Given the description of an element on the screen output the (x, y) to click on. 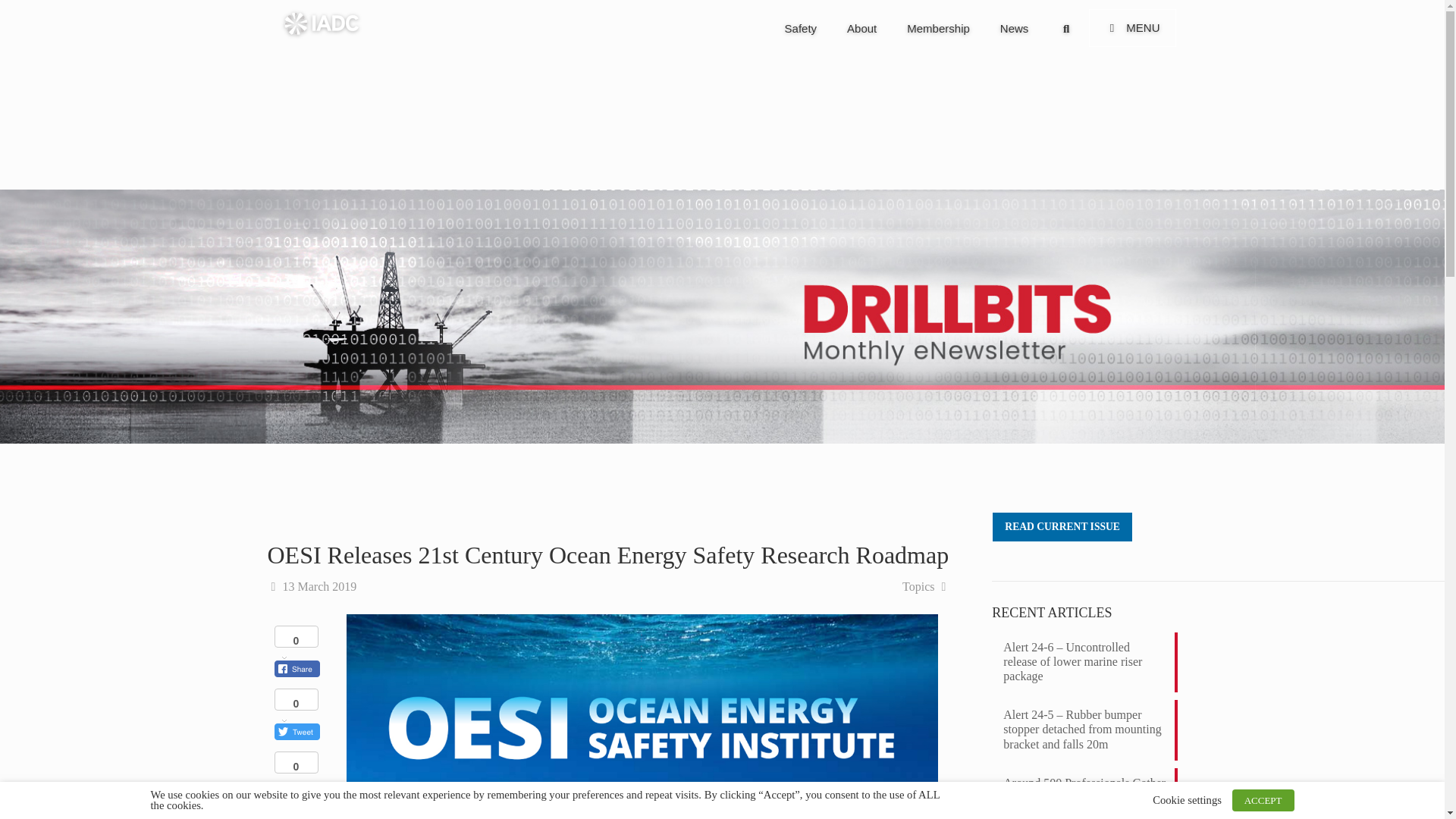
MENU (1132, 27)
Safety (801, 28)
IADC.org (973, 27)
Membership (320, 22)
News (938, 28)
About (1014, 28)
